Given the description of an element on the screen output the (x, y) to click on. 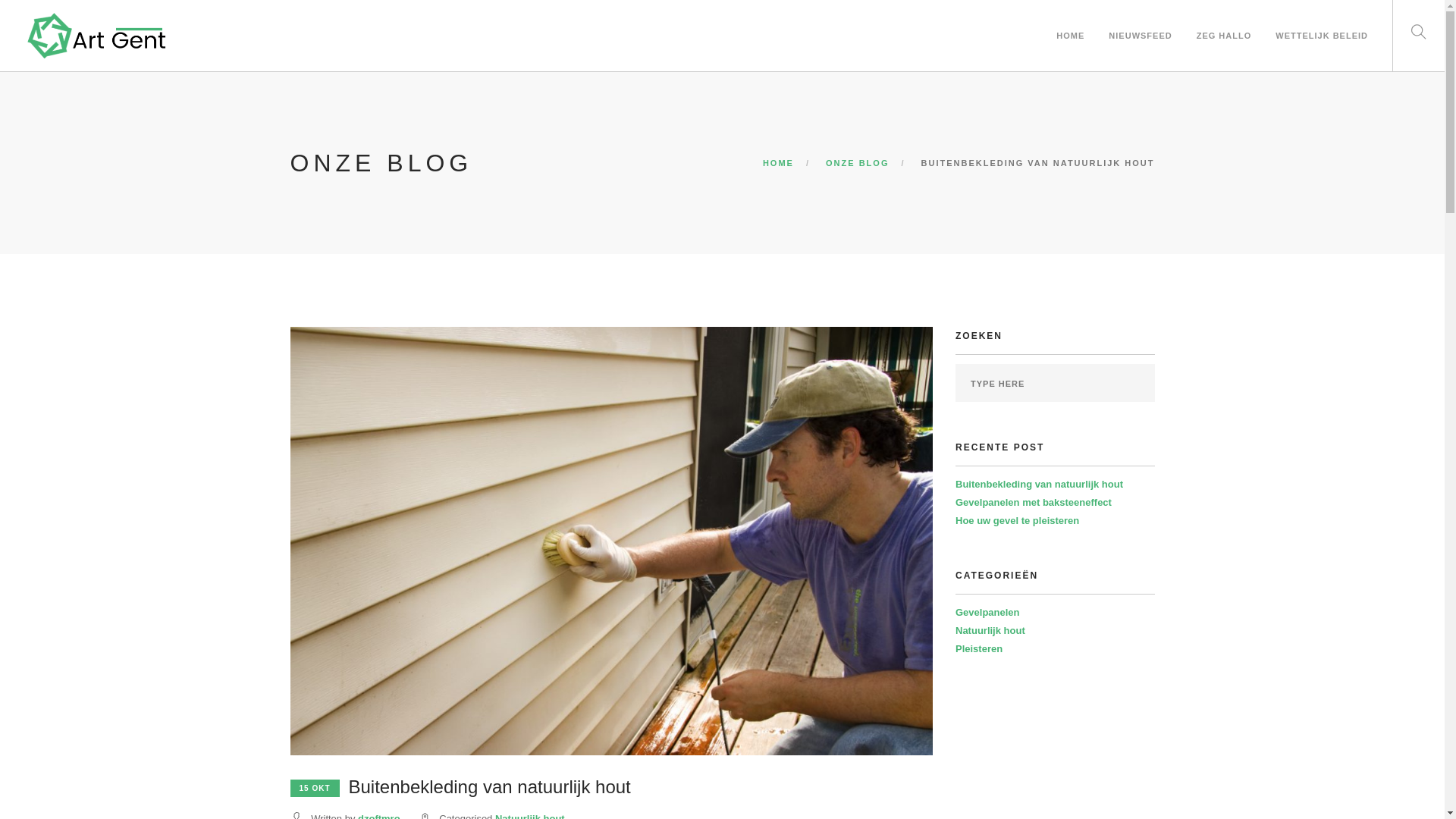
ONZE BLOG Element type: text (856, 162)
ZEG HALLO Element type: text (1224, 21)
WETTELIJK BELEID Element type: text (1321, 21)
15 OKTBuitenbekleding van natuurlijk hout Element type: text (459, 787)
NIEUWSFEED Element type: text (1139, 21)
HOME Element type: text (1070, 21)
Gevelpanelen met baksteeneffect Element type: text (1033, 502)
Buitenbekleding van natuurlijk hout Element type: text (1039, 483)
Hoe uw gevel te pleisteren Element type: text (1017, 520)
Natuurlijk hout Element type: text (990, 630)
HOME Element type: text (777, 162)
Gevelpanelen Element type: text (987, 612)
Pleisteren Element type: text (978, 648)
